Given the description of an element on the screen output the (x, y) to click on. 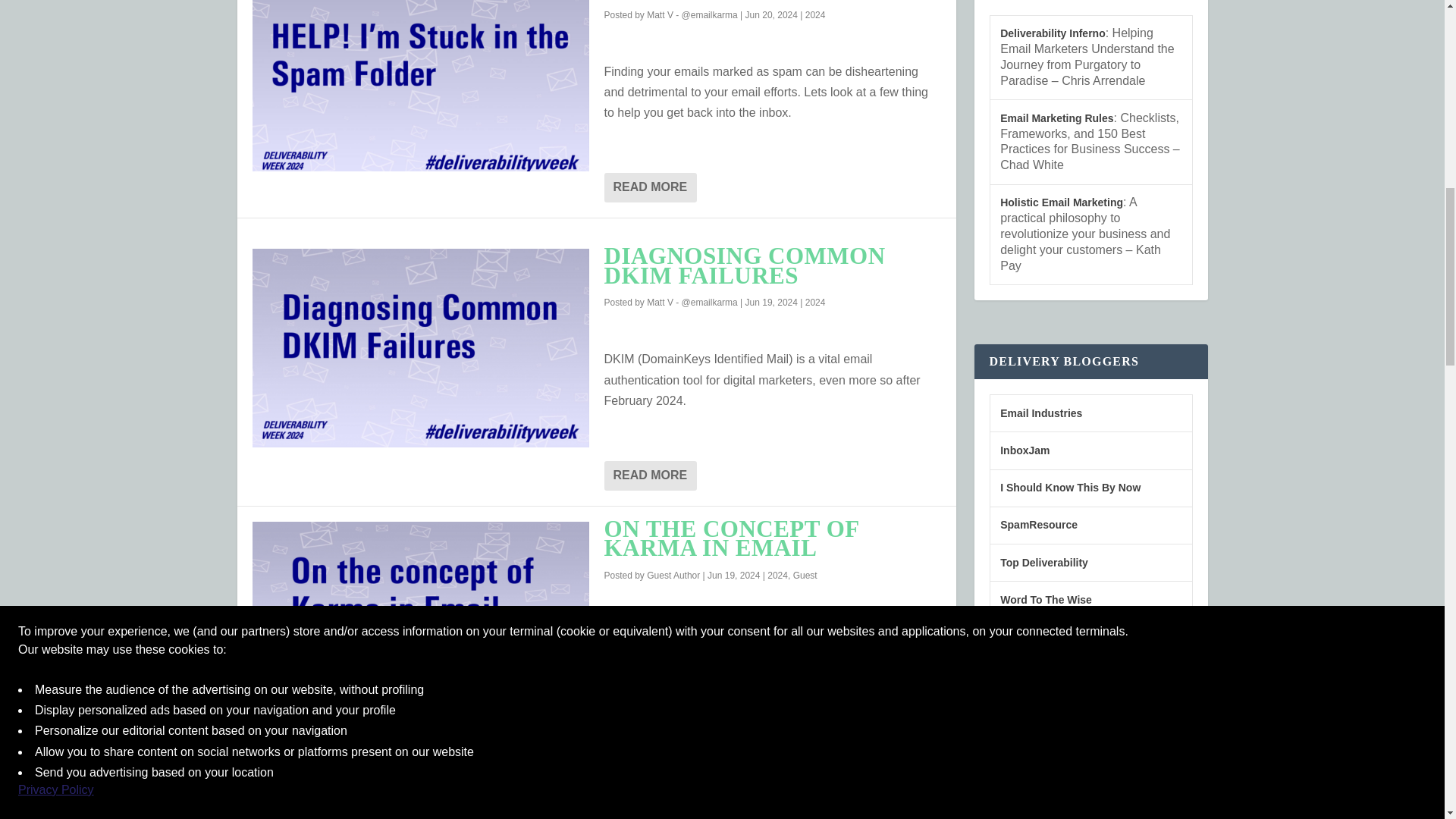
ON THE CONCEPT OF KARMA IN EMAIL (731, 538)
2024 (815, 14)
DIAGNOSING COMMON DKIM FAILURES (744, 265)
2024 (777, 575)
Guest Author (673, 575)
2024 (815, 302)
Diagnosing Common DKIM Failures (419, 347)
On the concept of Karma in Email (419, 609)
Is Your SPF Record Sabotaging Your Email Deliverability? (419, 814)
Posts by Guest Author (673, 575)
